Given the description of an element on the screen output the (x, y) to click on. 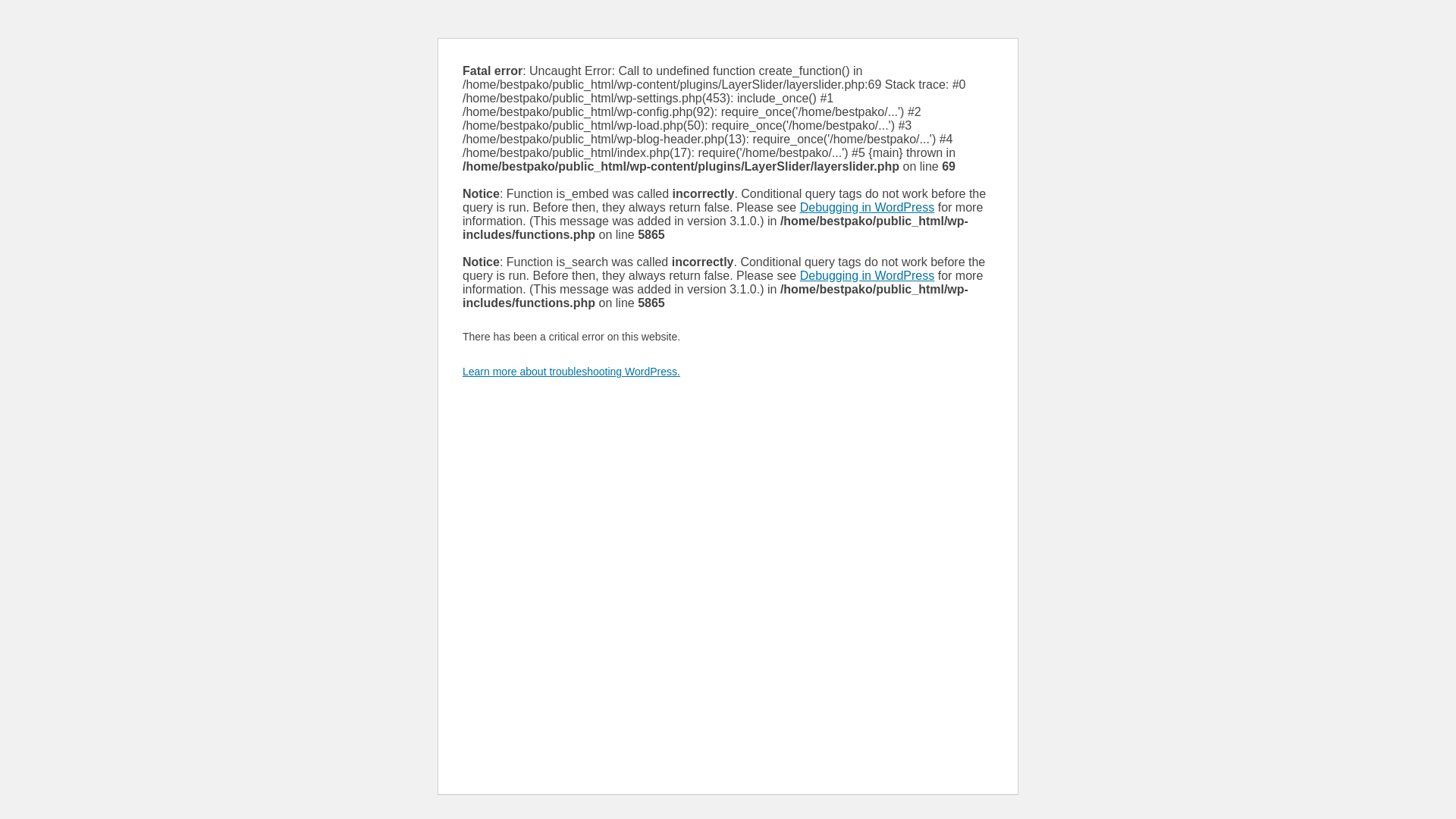
Learn more about troubleshooting WordPress. (571, 371)
Debugging in WordPress (866, 206)
Debugging in WordPress (866, 275)
